Given the description of an element on the screen output the (x, y) to click on. 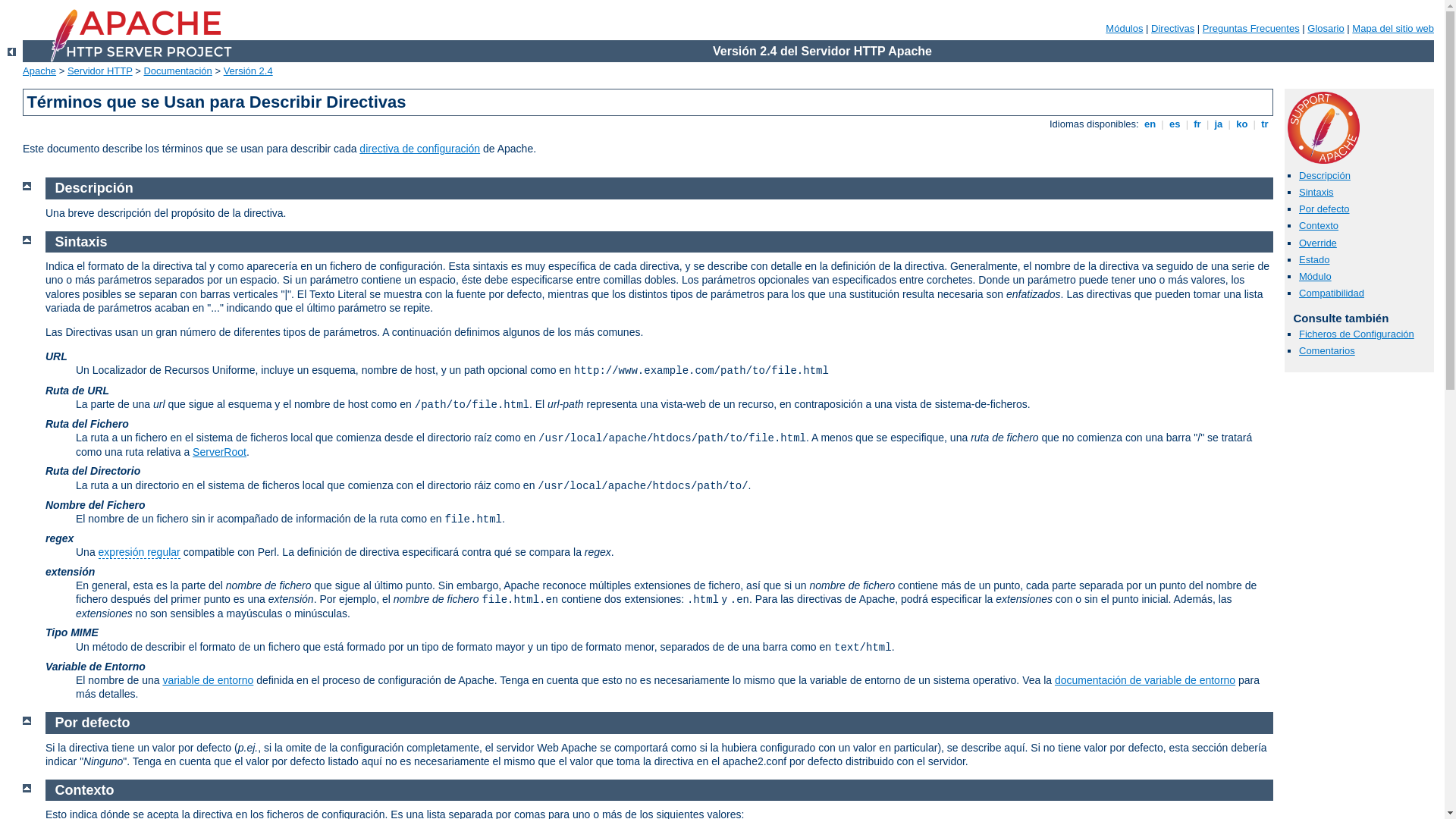
Contexto Element type: text (84, 789)
Mapa del sitio web Element type: text (1393, 28)
 ja  Element type: text (1218, 123)
Estado Element type: text (1314, 259)
Sintaxis Element type: text (1316, 191)
Comentarios Element type: text (1327, 350)
Servidor HTTP Element type: text (99, 70)
 en  Element type: text (1149, 123)
Compatibilidad Element type: text (1331, 292)
Glosario Element type: text (1325, 28)
Sintaxis Element type: text (81, 241)
 es  Element type: text (1174, 123)
 fr  Element type: text (1197, 123)
ServerRoot Element type: text (219, 451)
Apache Element type: text (39, 70)
<- Element type: hover (11, 51)
Preguntas Frecuentes Element type: text (1250, 28)
Directivas Element type: text (1172, 28)
 ko  Element type: text (1241, 123)
 tr  Element type: text (1264, 123)
variable de entorno Element type: text (207, 680)
Por defecto Element type: text (92, 722)
Contexto Element type: text (1318, 225)
Por defecto Element type: text (1324, 208)
Override Element type: text (1317, 241)
